Given the description of an element on the screen output the (x, y) to click on. 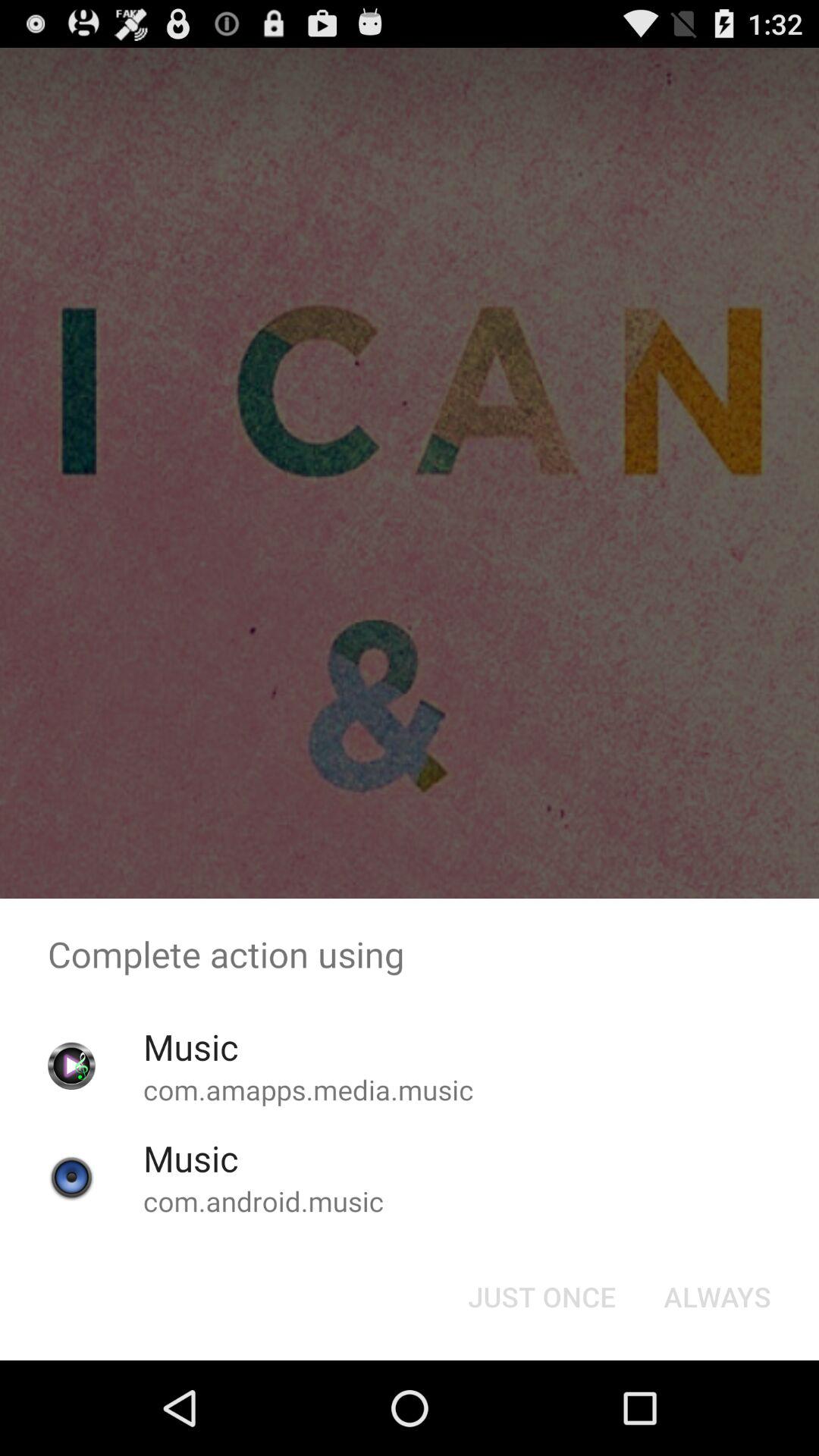
select the icon to the left of always icon (541, 1296)
